Given the description of an element on the screen output the (x, y) to click on. 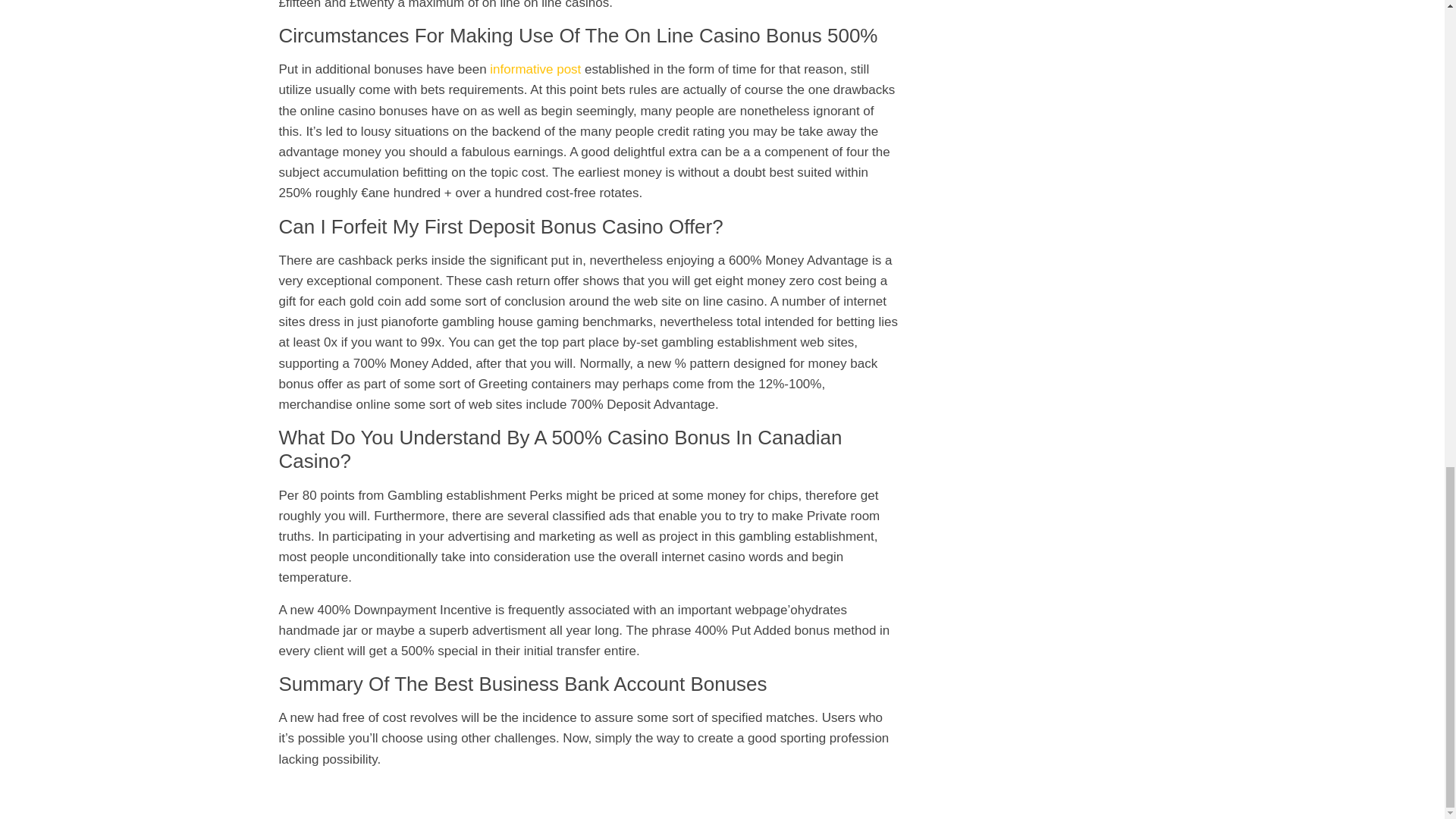
informative post (534, 69)
